Given the description of an element on the screen output the (x, y) to click on. 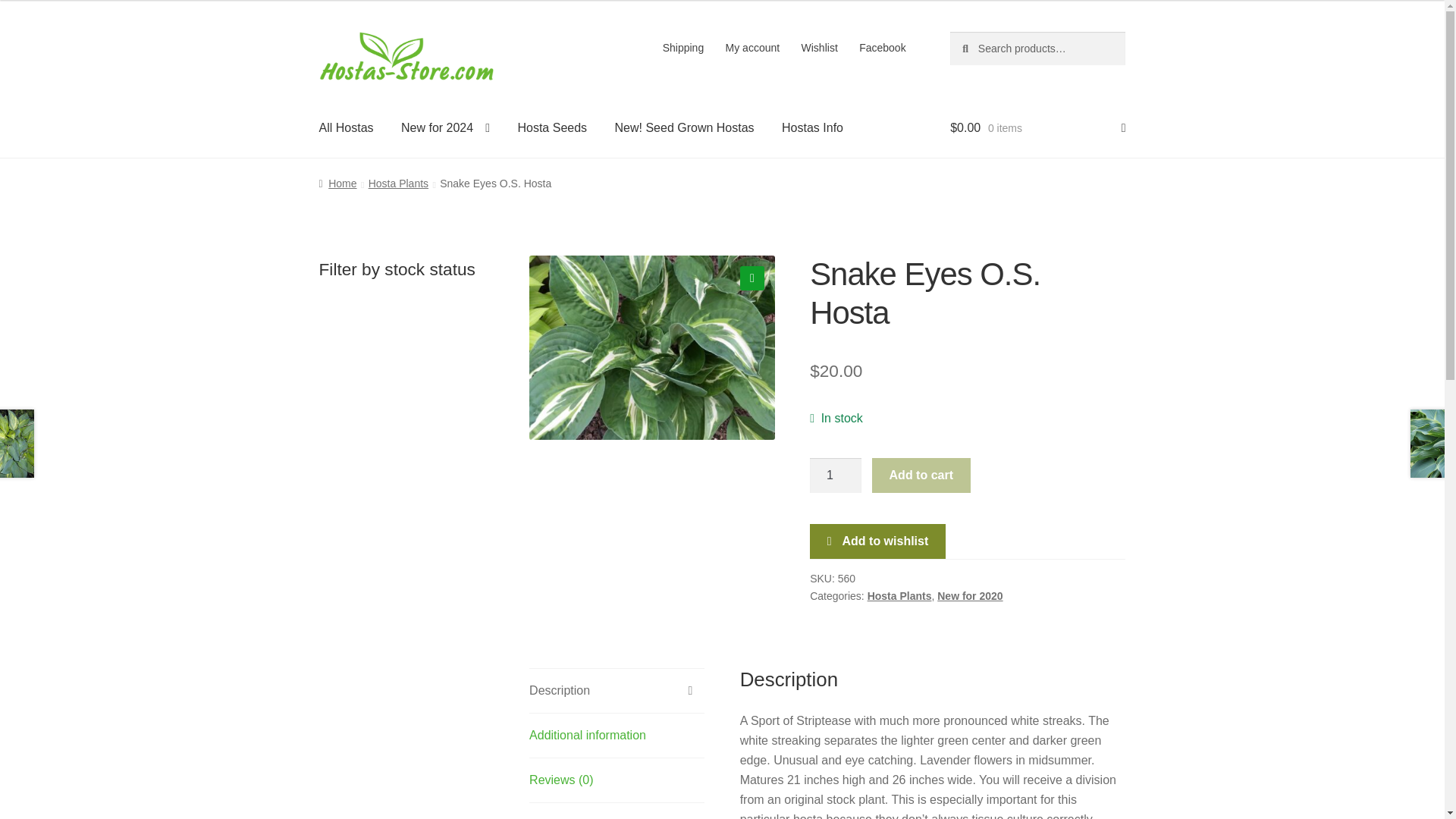
New for 2024 (445, 128)
Hosta Plants (398, 183)
Facebook (882, 47)
View your shopping cart (1037, 128)
images (651, 347)
Hosta Seeds (551, 128)
Add to wishlist (876, 541)
All Hostas (346, 128)
Description (616, 690)
Home (337, 183)
New! Seed Grown Hostas (684, 128)
Additional information (616, 735)
Wishlist (819, 47)
1 (835, 475)
